Given the description of an element on the screen output the (x, y) to click on. 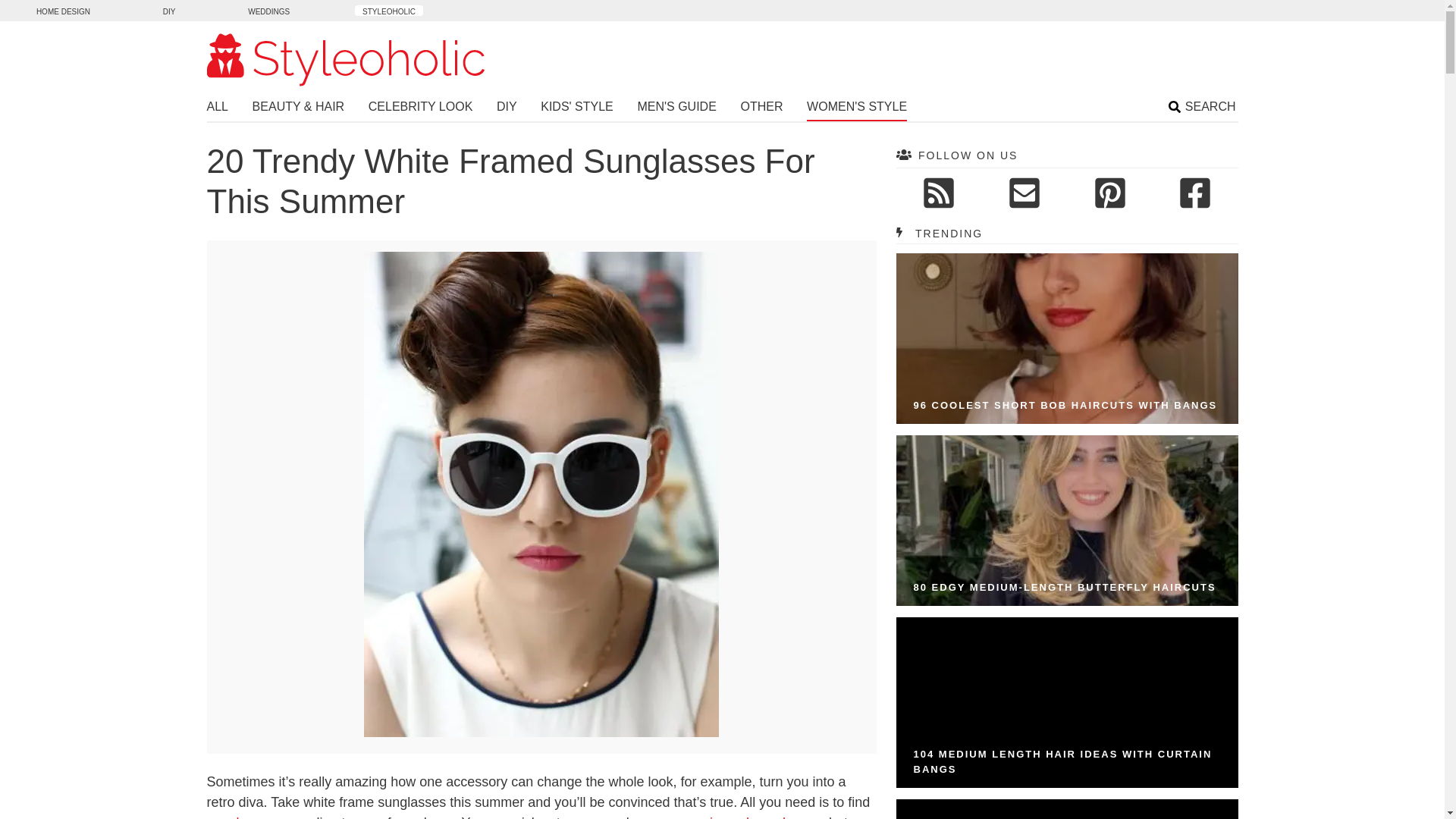
WEDDINGS (268, 9)
DIY (169, 9)
DIY Projects and Crafts (169, 9)
DIY (506, 108)
ALL (216, 108)
SEARCH (1202, 108)
Trendy White Frame Sunglasses For This Summer (541, 732)
sunglasses (240, 816)
WOMEN'S STYLE (856, 109)
mirrored sunglasses (759, 816)
